Given the description of an element on the screen output the (x, y) to click on. 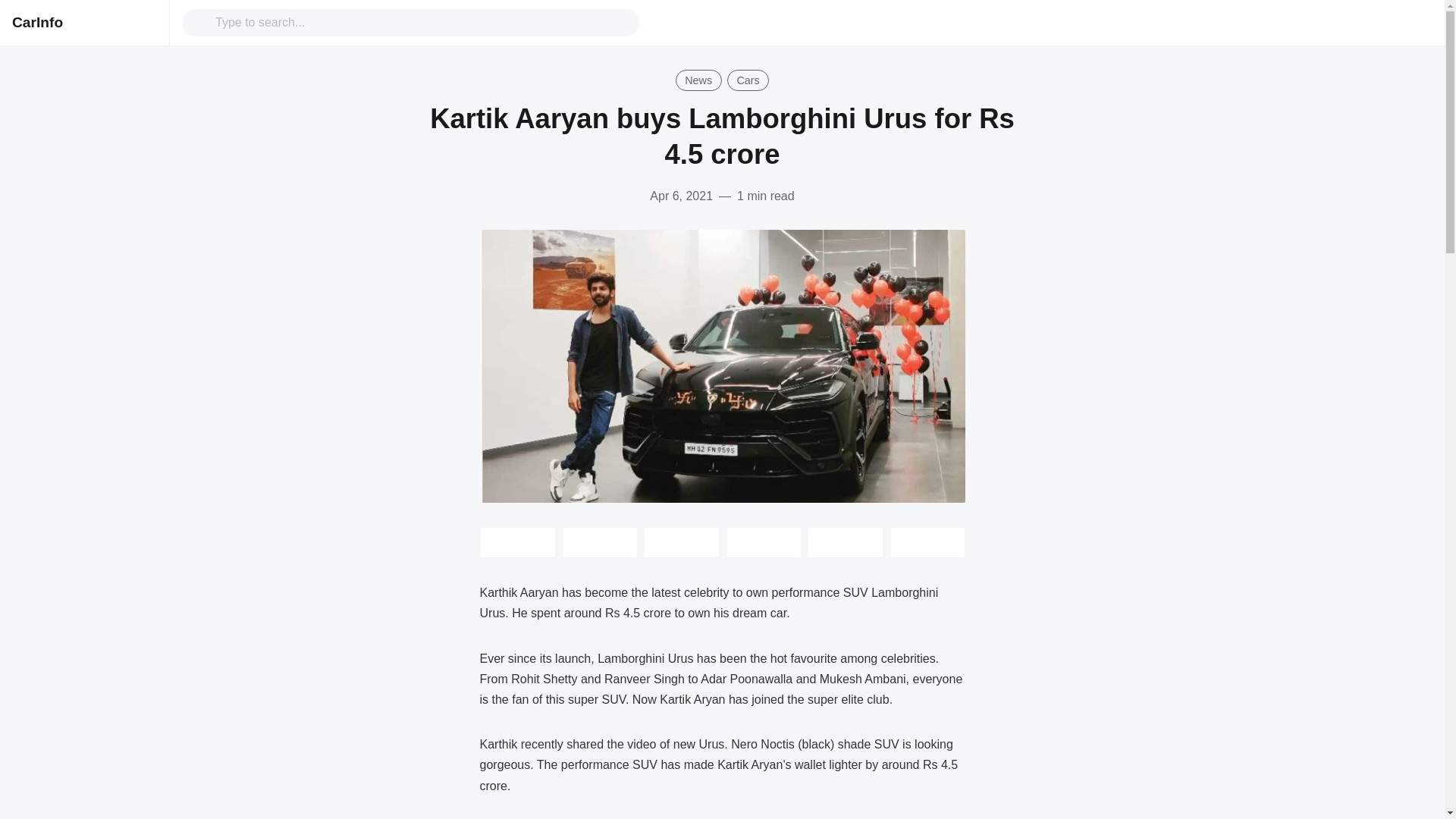
Bookmark (925, 542)
Menu (144, 22)
Share on Twitter (516, 542)
Share on Facebook (598, 542)
Cars (747, 79)
Search (201, 22)
Cars (747, 79)
News (698, 79)
Share on Linkedin (681, 542)
CarInfo (36, 22)
News (698, 79)
Copy to clipboard (844, 542)
Search (421, 22)
Share by email (762, 542)
